Given the description of an element on the screen output the (x, y) to click on. 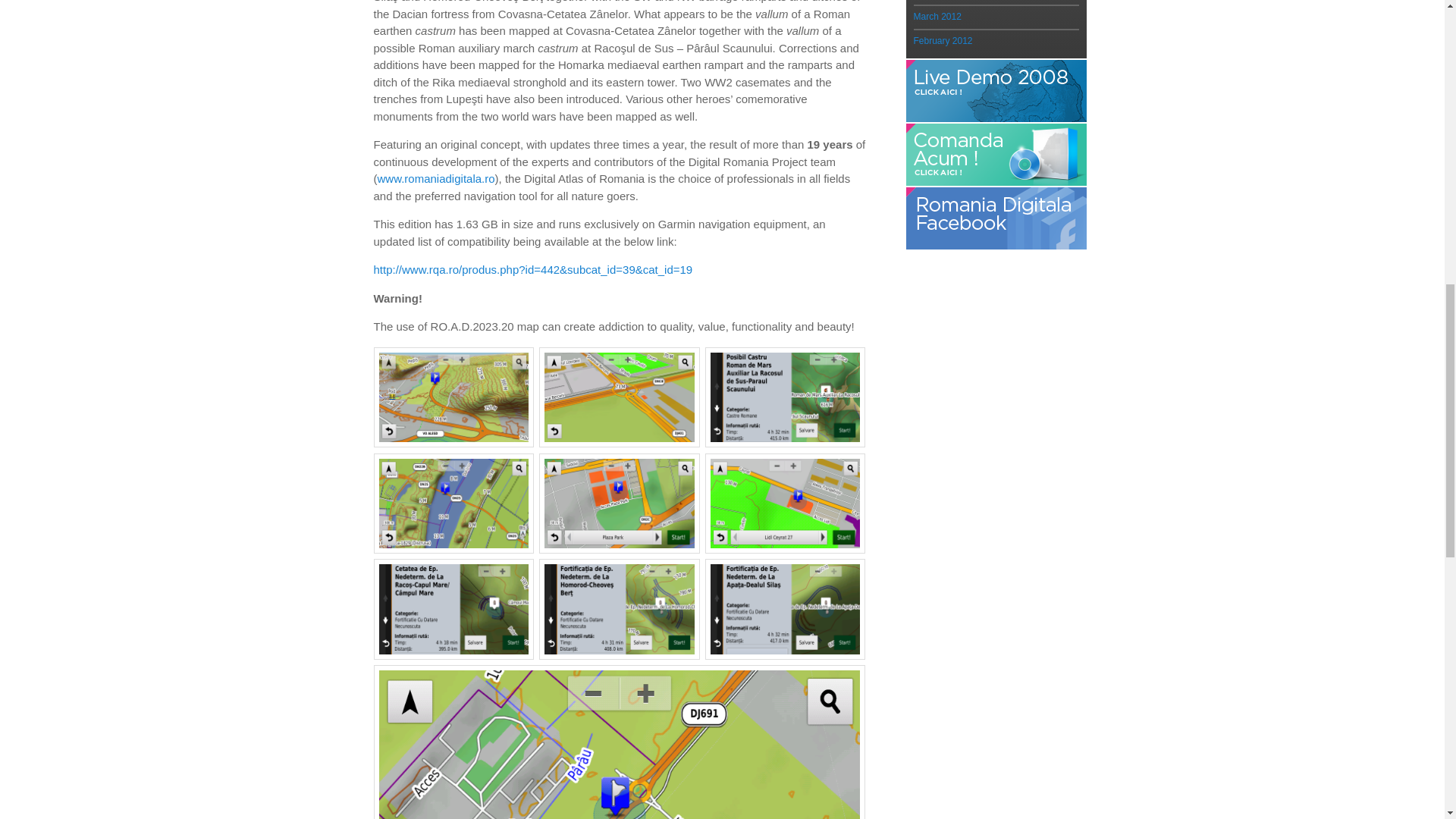
www.romaniadigitala.ro (436, 178)
